Given the description of an element on the screen output the (x, y) to click on. 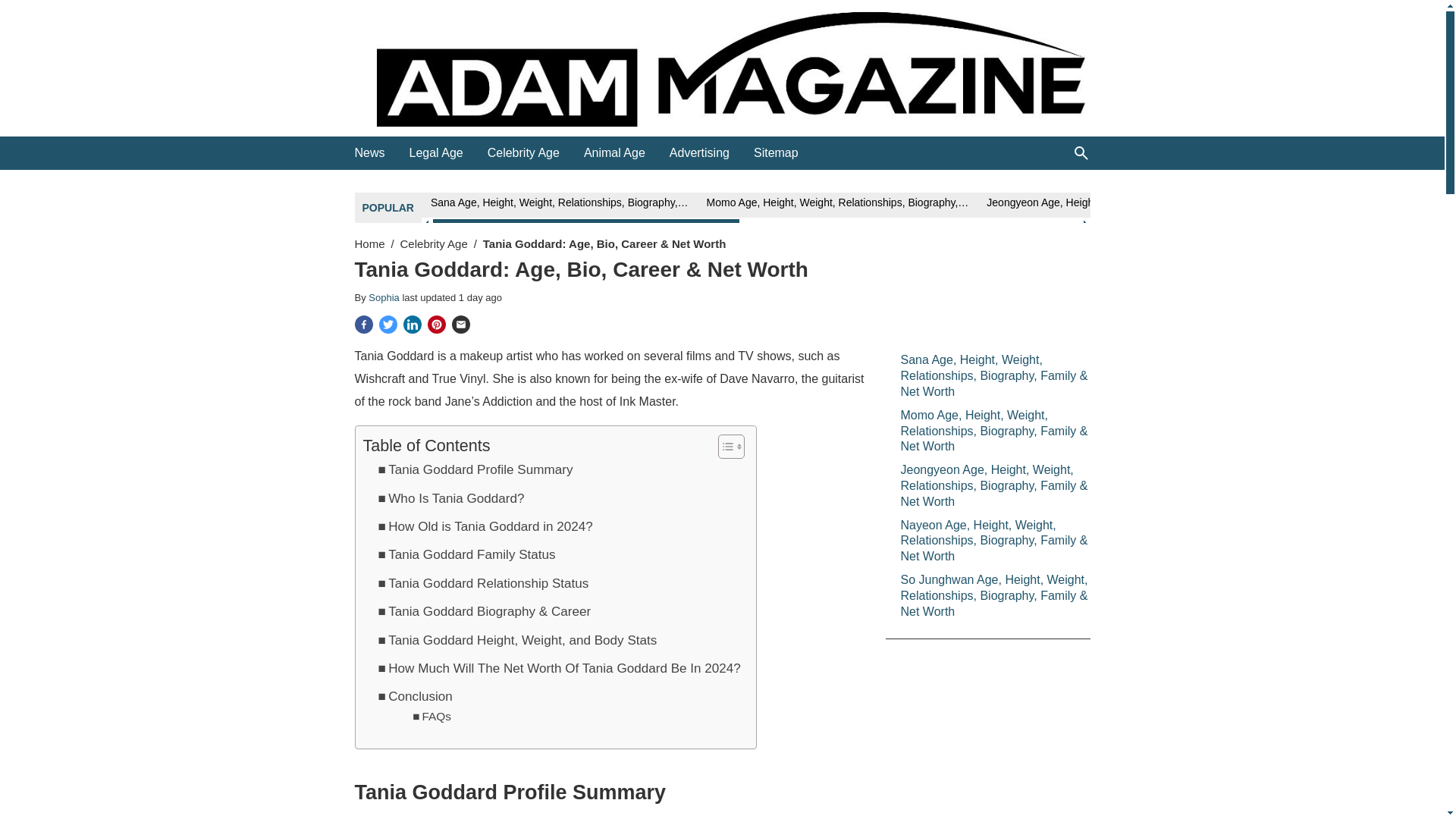
Who Is Tania Goddard? (450, 498)
Sitemap (775, 152)
FAQs (431, 716)
Tania Goddard Relationship Status (482, 583)
Celebrity Age (523, 152)
Home (370, 243)
News (370, 152)
How Old is Tania Goddard in 2024? (484, 526)
Sophia (384, 297)
Conclusion (414, 696)
